Given the description of an element on the screen output the (x, y) to click on. 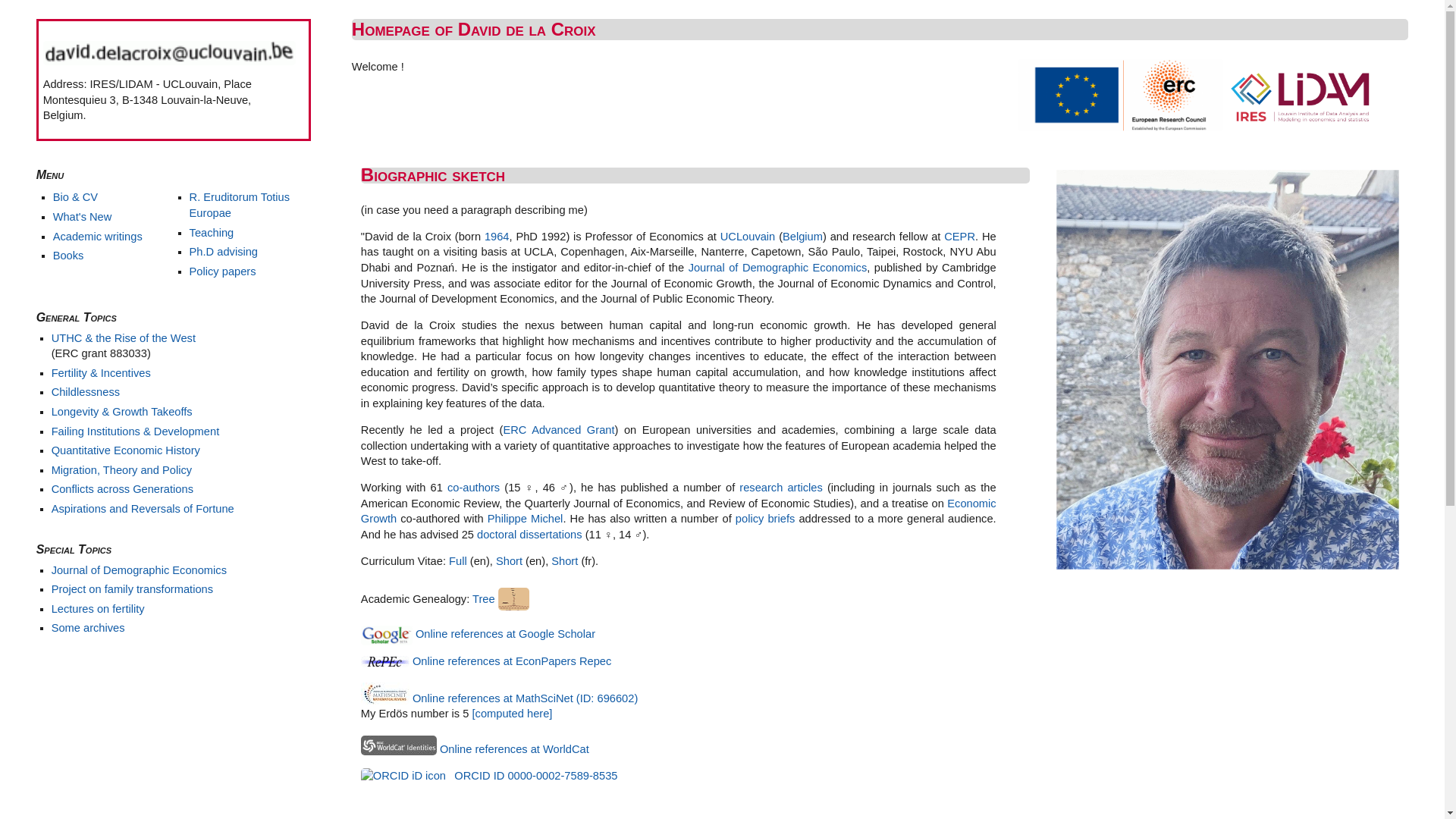
UTHC & the Rise of the West Element type: text (123, 338)
Online references at MathSciNet (ID: 696602) Element type: text (524, 698)
Tree Element type: text (500, 599)
Online references at EconPapers Repec Element type: text (511, 661)
Lectures on fertility Element type: text (97, 608)
CEPR Element type: text (959, 236)
Conflicts across Generations Element type: text (122, 489)
Policy papers Element type: text (222, 271)
Journal of Demographic Economics Element type: text (138, 570)
Ph.D advising Element type: text (223, 251)
policy briefs Element type: text (764, 518)
Migration, Theory and Policy Element type: text (121, 470)
ERC Advanced Grant Element type: text (558, 429)
doctoral dissertations Element type: text (529, 534)
co-authors Element type: text (473, 487)
research articles Element type: text (780, 487)
Failing Institutions & Development Element type: text (135, 430)
Bio & CV Element type: text (75, 197)
Aspirations and Reversals of Fortune Element type: text (142, 508)
R. Eruditorum Totius Europae Element type: text (239, 205)
Online references at WorldCat Element type: text (514, 749)
UCLouvain Element type: text (747, 236)
[computed here] Element type: text (511, 713)
Books Element type: text (68, 255)
Childlessness Element type: text (85, 391)
Teaching Element type: text (211, 232)
Academic writings Element type: text (97, 236)
Some archives Element type: text (88, 627)
Journal of Demographic Economics Element type: text (777, 267)
Online references at Google Scholar Element type: text (505, 633)
Longevity & Growth Takeoffs Element type: text (121, 411)
What's New Element type: text (82, 216)
Short Element type: text (564, 561)
Belgium Element type: text (802, 236)
ORCID ID 0000-0002-7589-8535 Element type: text (489, 775)
Economic Growth Element type: text (678, 511)
Fertility & Incentives Element type: text (100, 373)
Project on family transformations Element type: text (132, 589)
Full Element type: text (457, 561)
1964 Element type: text (496, 236)
Philippe Michel Element type: text (525, 518)
Quantitative Economic History Element type: text (125, 450)
Short Element type: text (508, 561)
